Given the description of an element on the screen output the (x, y) to click on. 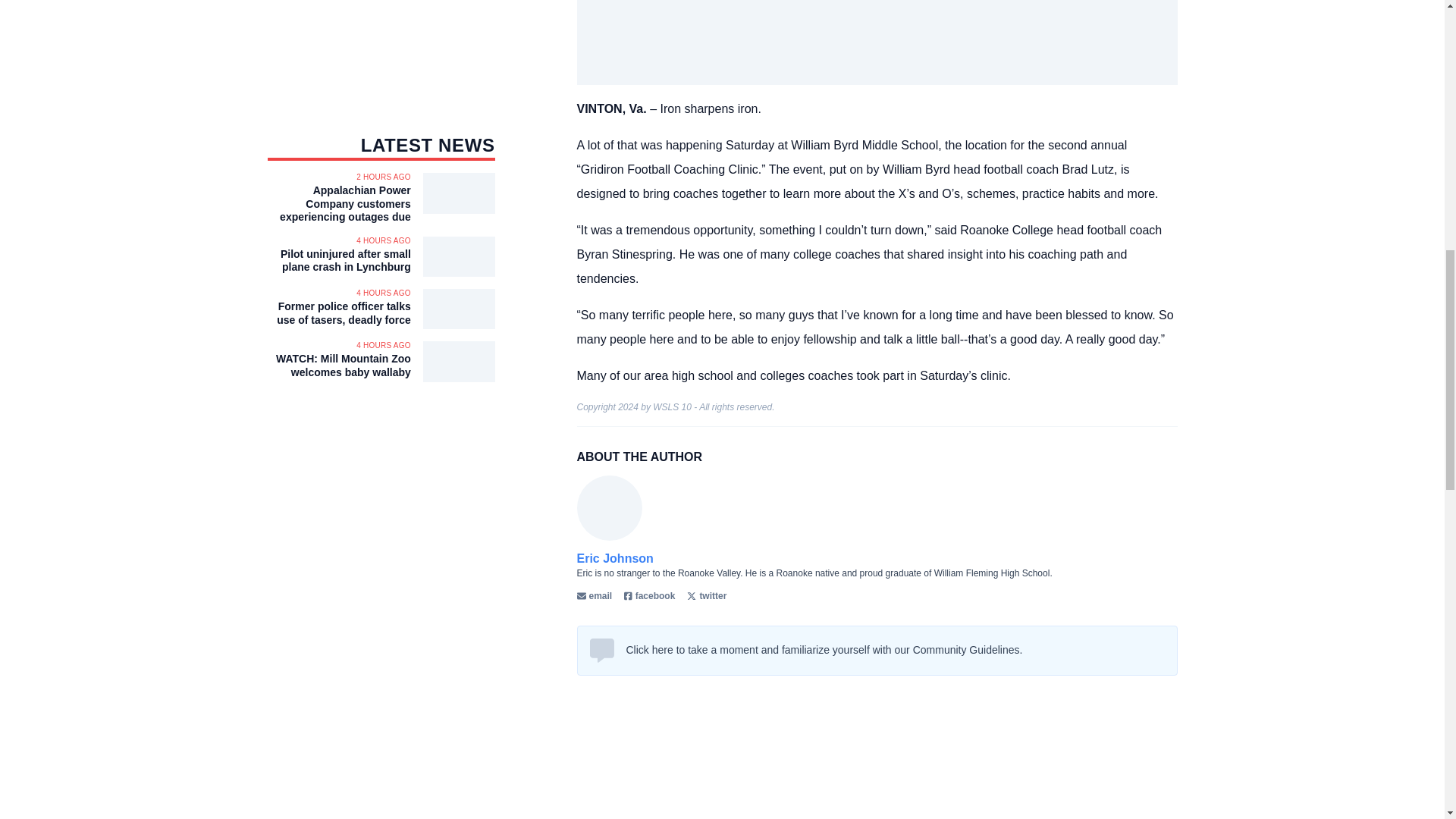
WATCH: Mill Mountain Zoo welcomes baby wallaby (338, 365)
Former police officer talks use of tasers, deadly force  (338, 313)
Pilot uninjured after small plane crash in Lynchburg (338, 261)
